Given the description of an element on the screen output the (x, y) to click on. 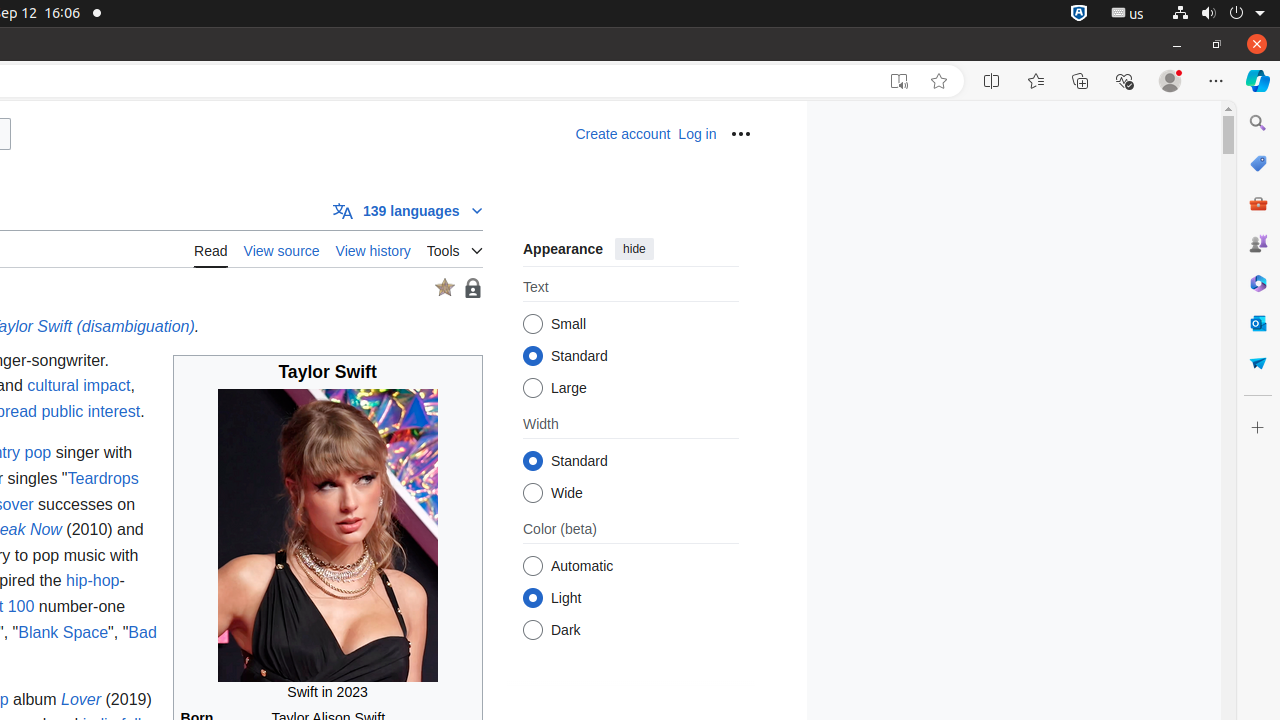
Light Element type: radio-button (532, 598)
Enter Immersive Reader (F9) Element type: push-button (899, 81)
Standard Element type: radio-button (532, 461)
Microsoft 365 Element type: push-button (1258, 283)
Dark Element type: radio-button (532, 630)
